Given the description of an element on the screen output the (x, y) to click on. 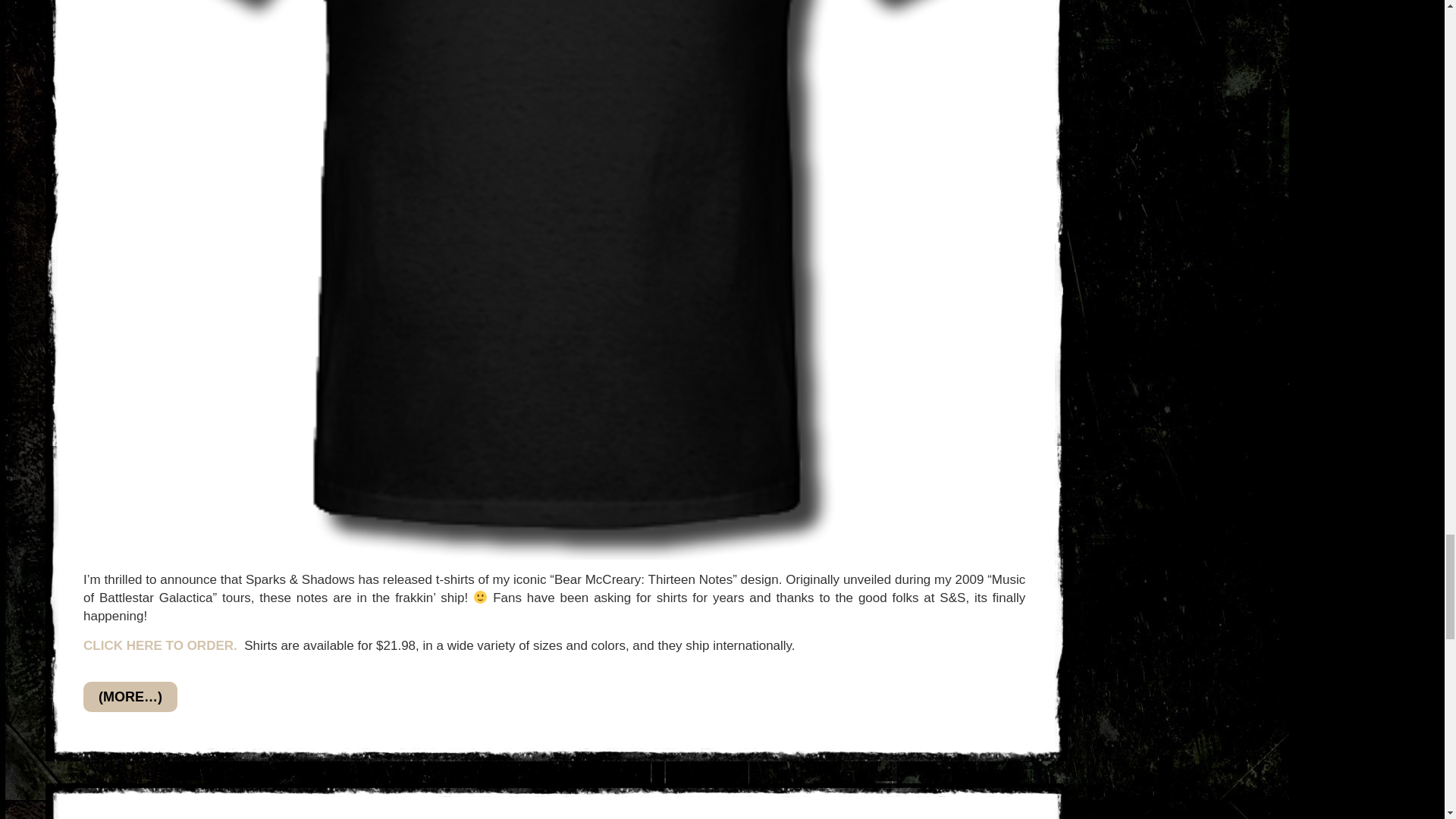
CLICK HERE TO ORDER. (159, 645)
